Given the description of an element on the screen output the (x, y) to click on. 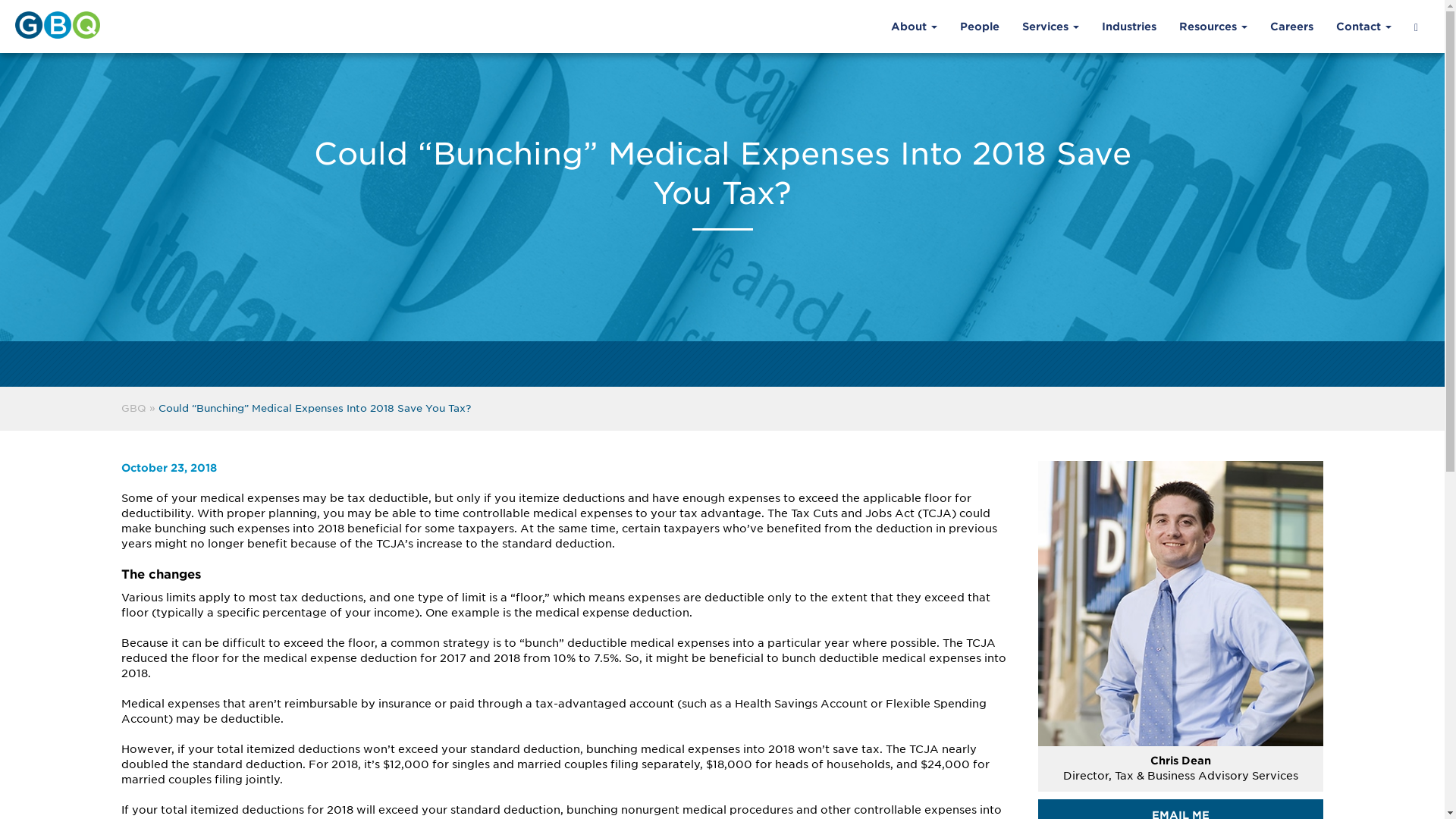
People (979, 26)
Go to GBQ. (133, 408)
Services (1050, 26)
About (914, 26)
